Given the description of an element on the screen output the (x, y) to click on. 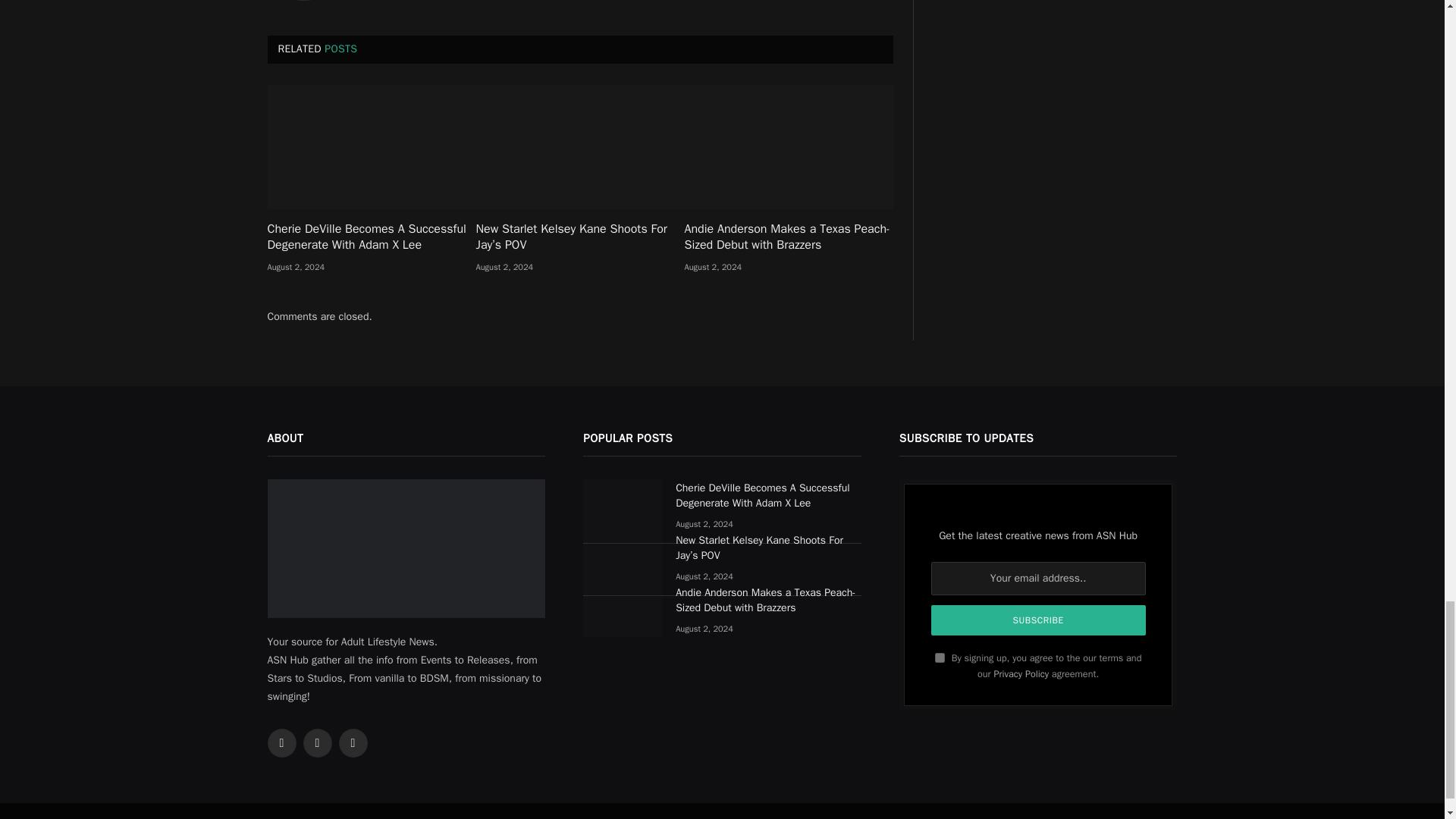
on (939, 657)
Subscribe (1038, 620)
